Given the description of an element on the screen output the (x, y) to click on. 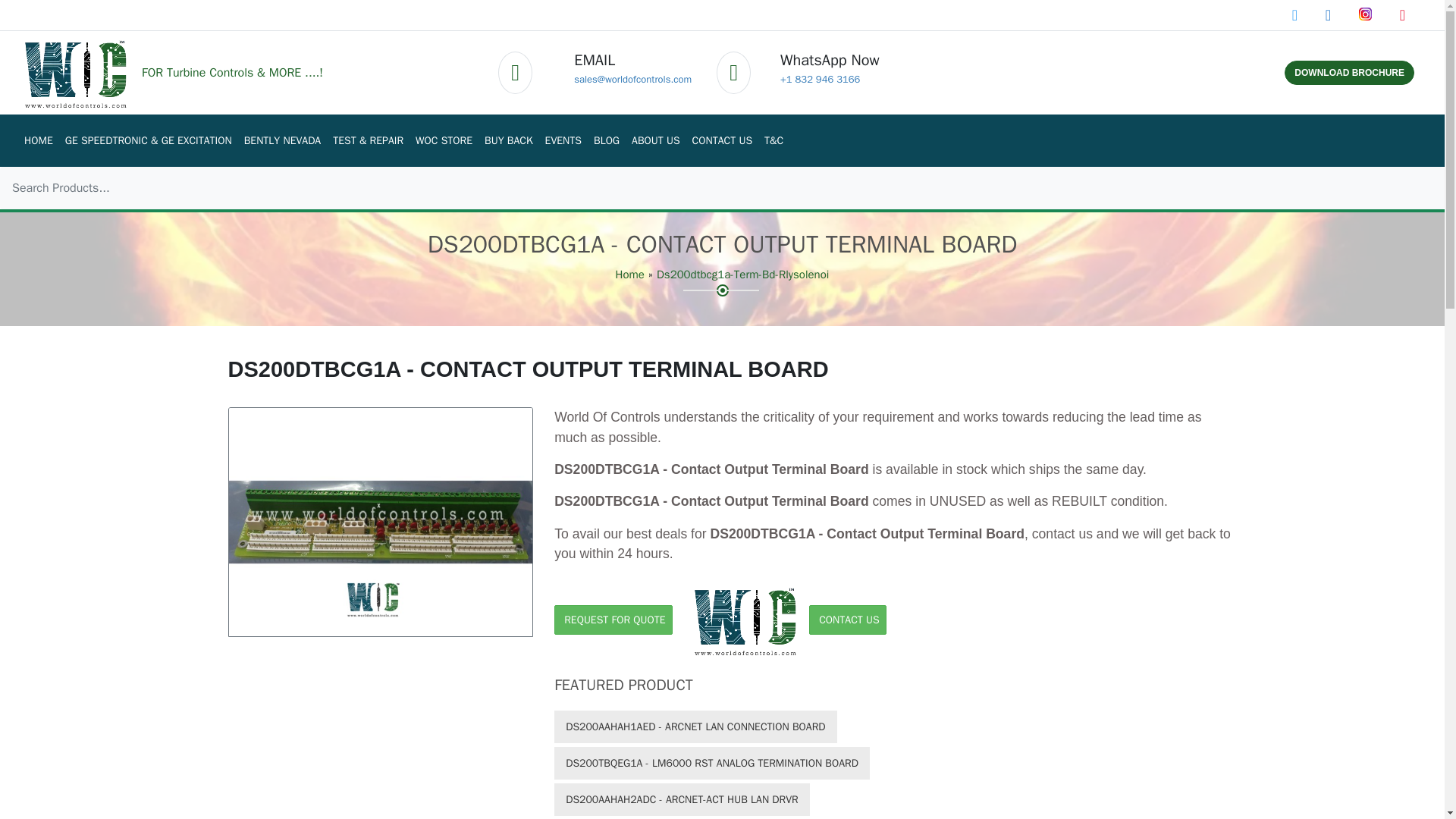
DS200AAHAH2ADC - ARCNET-ACT HUB LAN DRVR (681, 798)
CONTACT US (847, 619)
DS200TBQEG1A - LM6000 RST ANALOG TERMINATION BOARD (711, 762)
BUY BACK (508, 140)
BENTLY NEVADA (282, 140)
BLOG (607, 140)
WORLD OF CONTROLS LINKEDIN (1329, 14)
WORLD OF CONTROLS FACEBOOK (1296, 14)
CONTACT US (721, 140)
CONTACT US (721, 140)
HOME (38, 140)
REQUEST FOR QUOTE (612, 619)
WOC STORE (444, 140)
WOC WhatsApp (820, 78)
DS200AAHAH1AED - ARCNET LAN CONNECTION BOARD (694, 726)
